Given the description of an element on the screen output the (x, y) to click on. 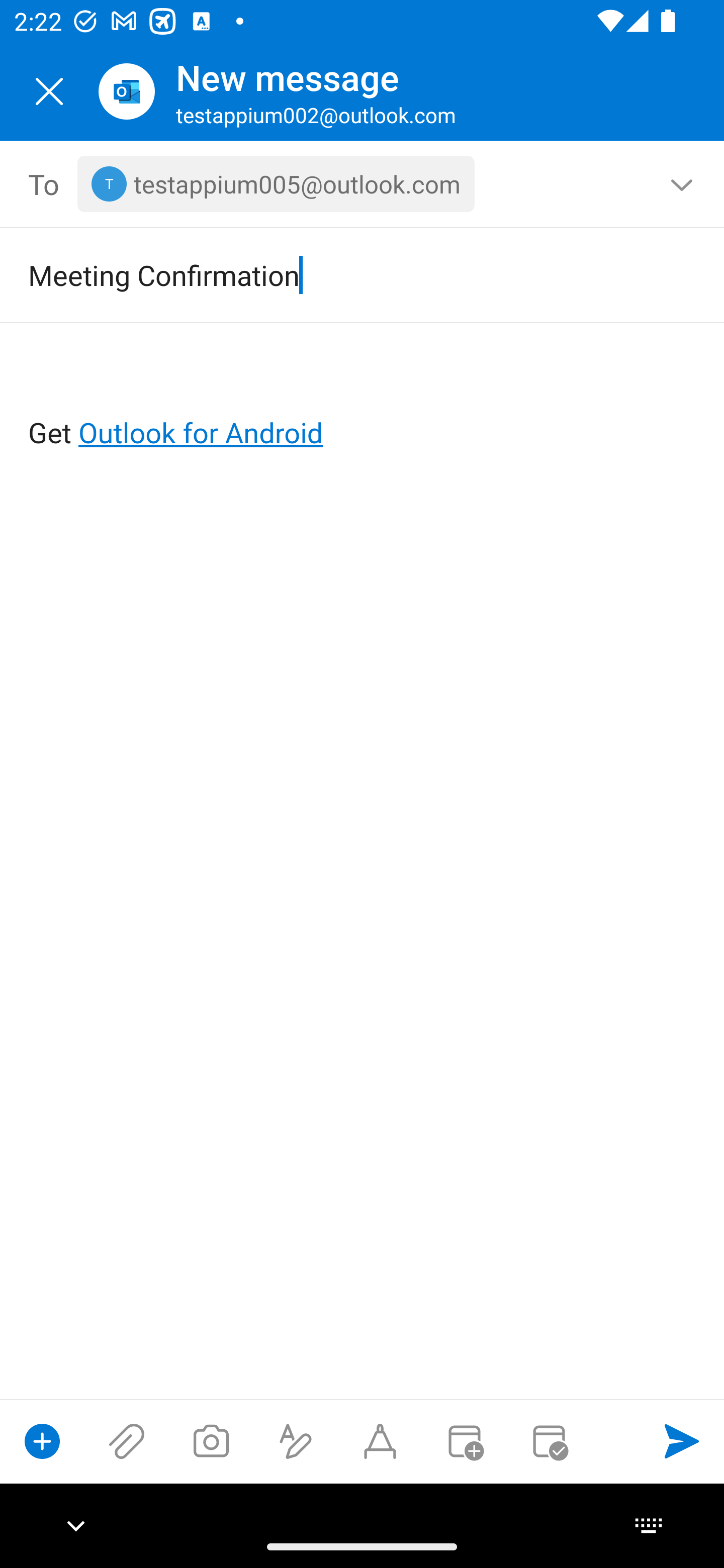
Close (49, 91)
Meeting Confirmation (333, 274)


Get Outlook for Android (363, 400)
Show compose options (42, 1440)
Attach files (126, 1440)
Take a photo (210, 1440)
Show formatting options (295, 1440)
Start Ink compose (380, 1440)
Convert to event (464, 1440)
Send availability (548, 1440)
Send (681, 1440)
